Given the description of an element on the screen output the (x, y) to click on. 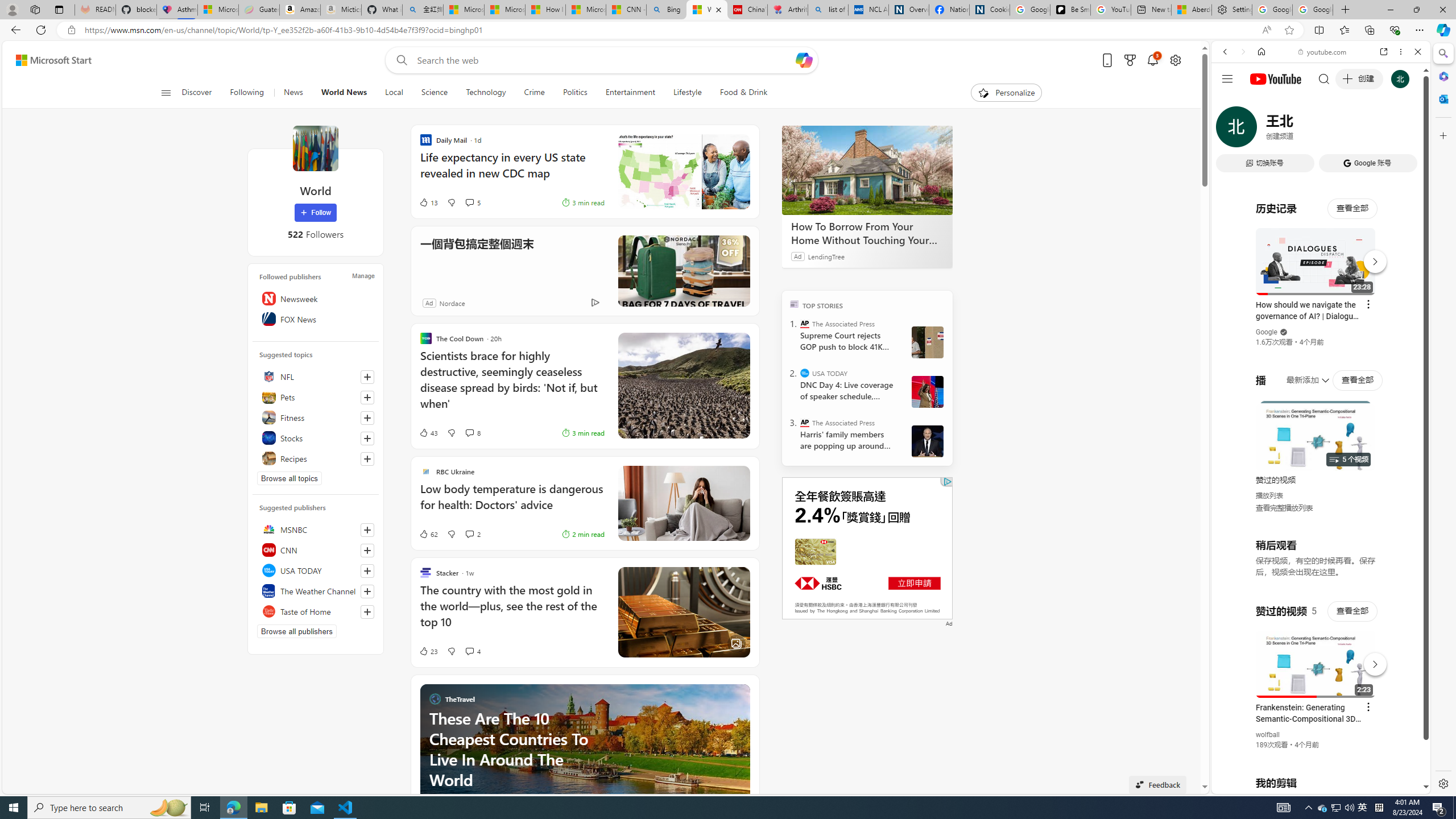
Science (434, 92)
Class: dict_pnIcon rms_img (1312, 784)
Crime (534, 92)
View comments 8 Comment (469, 432)
LendingTree (826, 256)
Search Filter, WEB (1230, 129)
NCL Adult Asthma Inhaler Choice Guideline (868, 9)
Newsweek (315, 298)
Personalize (1006, 92)
